Given the description of an element on the screen output the (x, y) to click on. 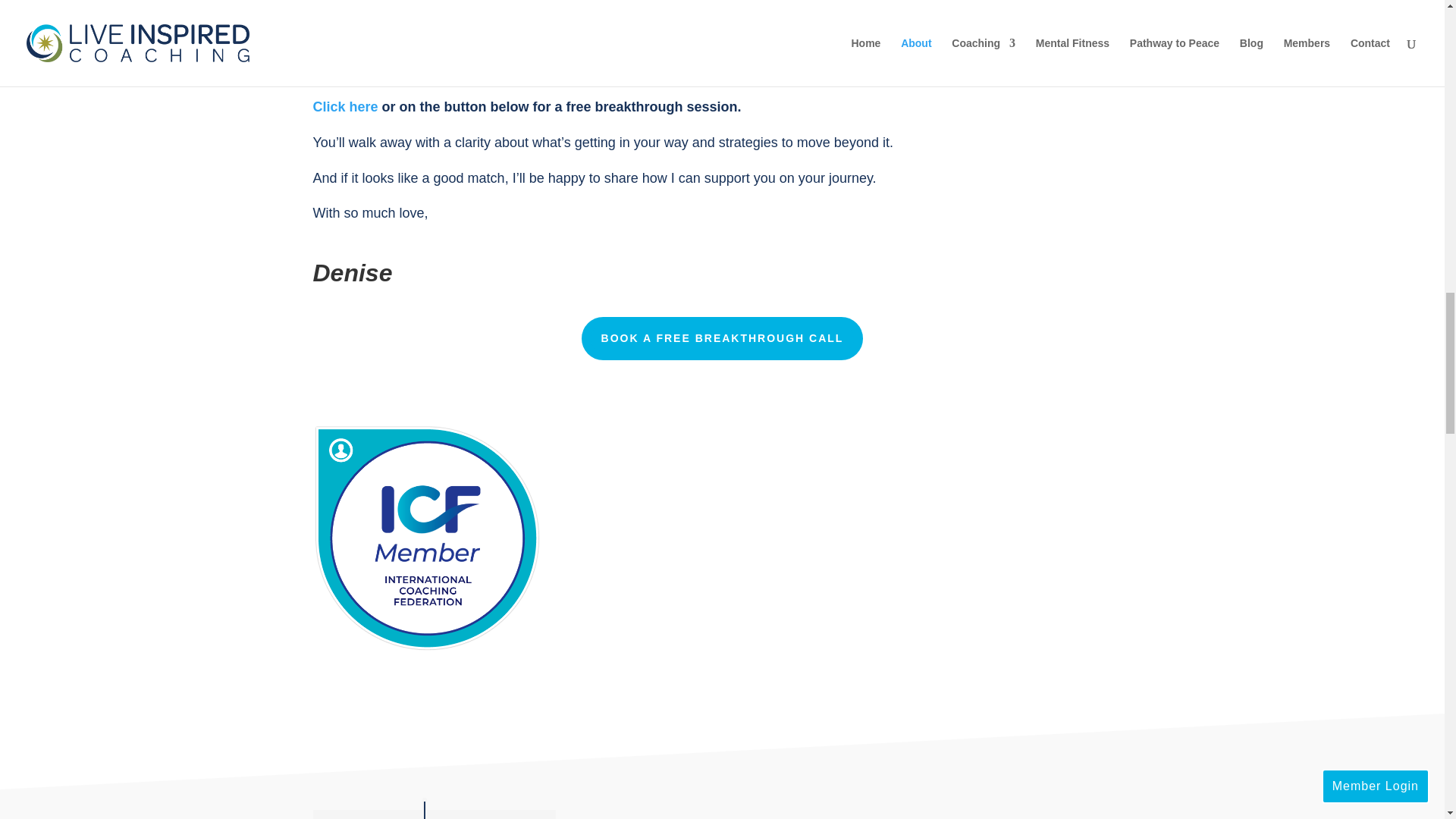
Click here (345, 106)
BOOK A FREE BREAKTHROUGH CALL (721, 337)
icf-member-badge (426, 537)
